Given the description of an element on the screen output the (x, y) to click on. 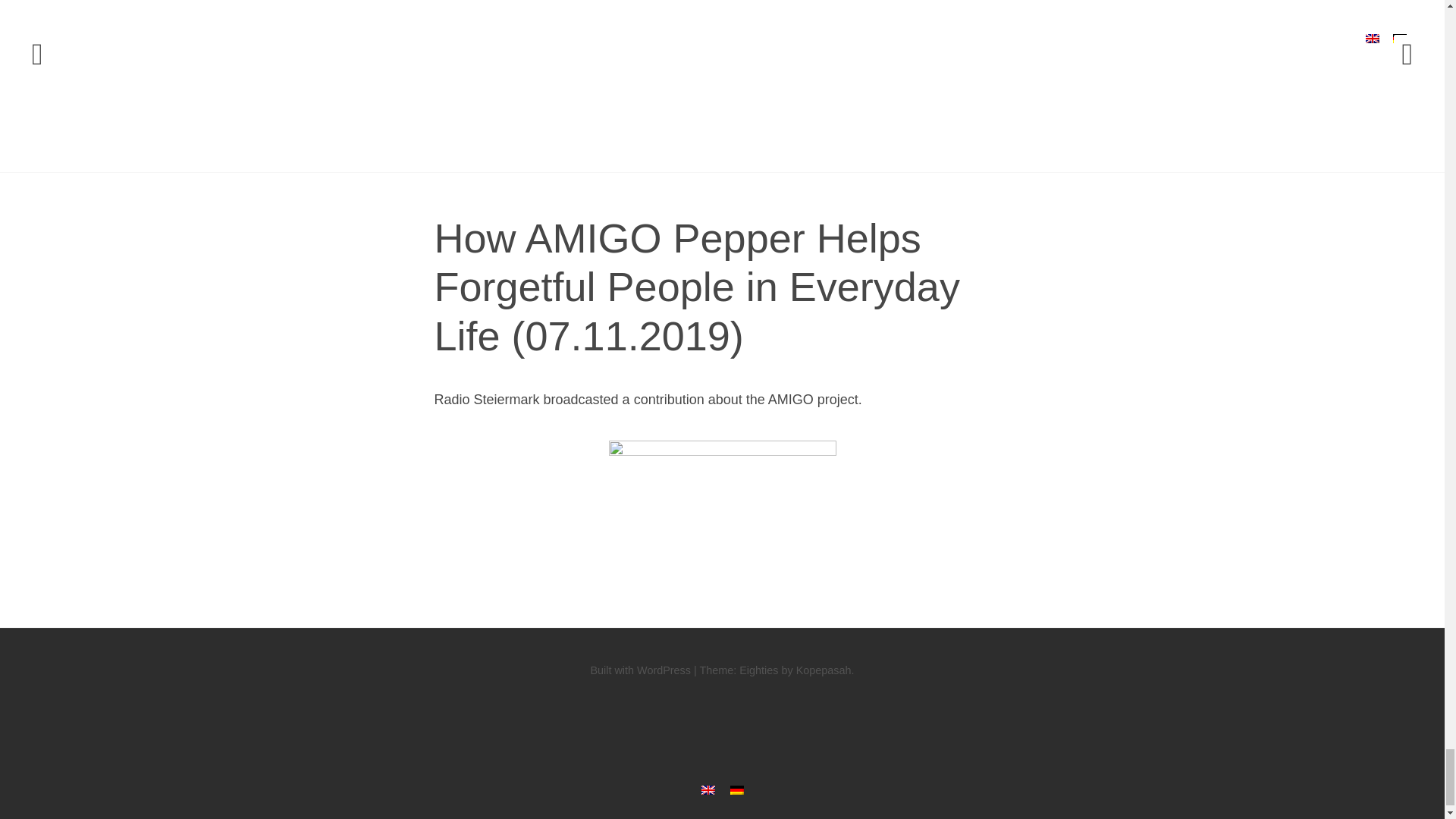
Kopepasah (823, 670)
Eighties (758, 670)
Built with WordPress (639, 670)
